Given the description of an element on the screen output the (x, y) to click on. 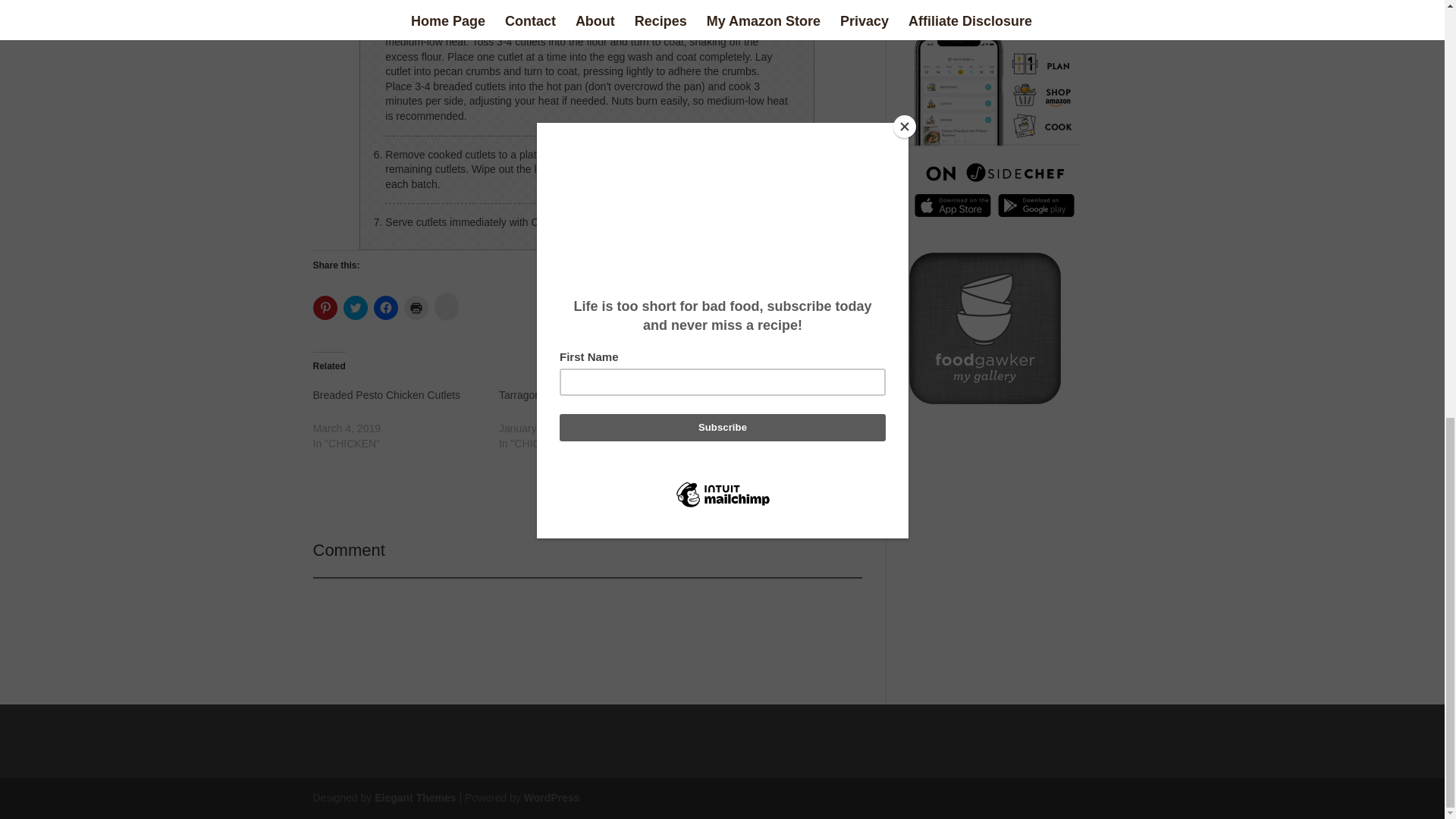
Breaded Pesto Chicken Cutlets (386, 395)
Click to share on Pinterest (324, 307)
Tarragon Chicken Cutlets (558, 395)
Breaded Pesto Chicken Cutlets (405, 419)
Click to share on Twitter (354, 307)
Dukkah Crusted Pork Cutlets (777, 419)
Tarragon Chicken Cutlets (591, 419)
Click to print (415, 307)
Click to share on Facebook (384, 307)
Breaded Pesto Chicken Cutlets (386, 395)
